Given the description of an element on the screen output the (x, y) to click on. 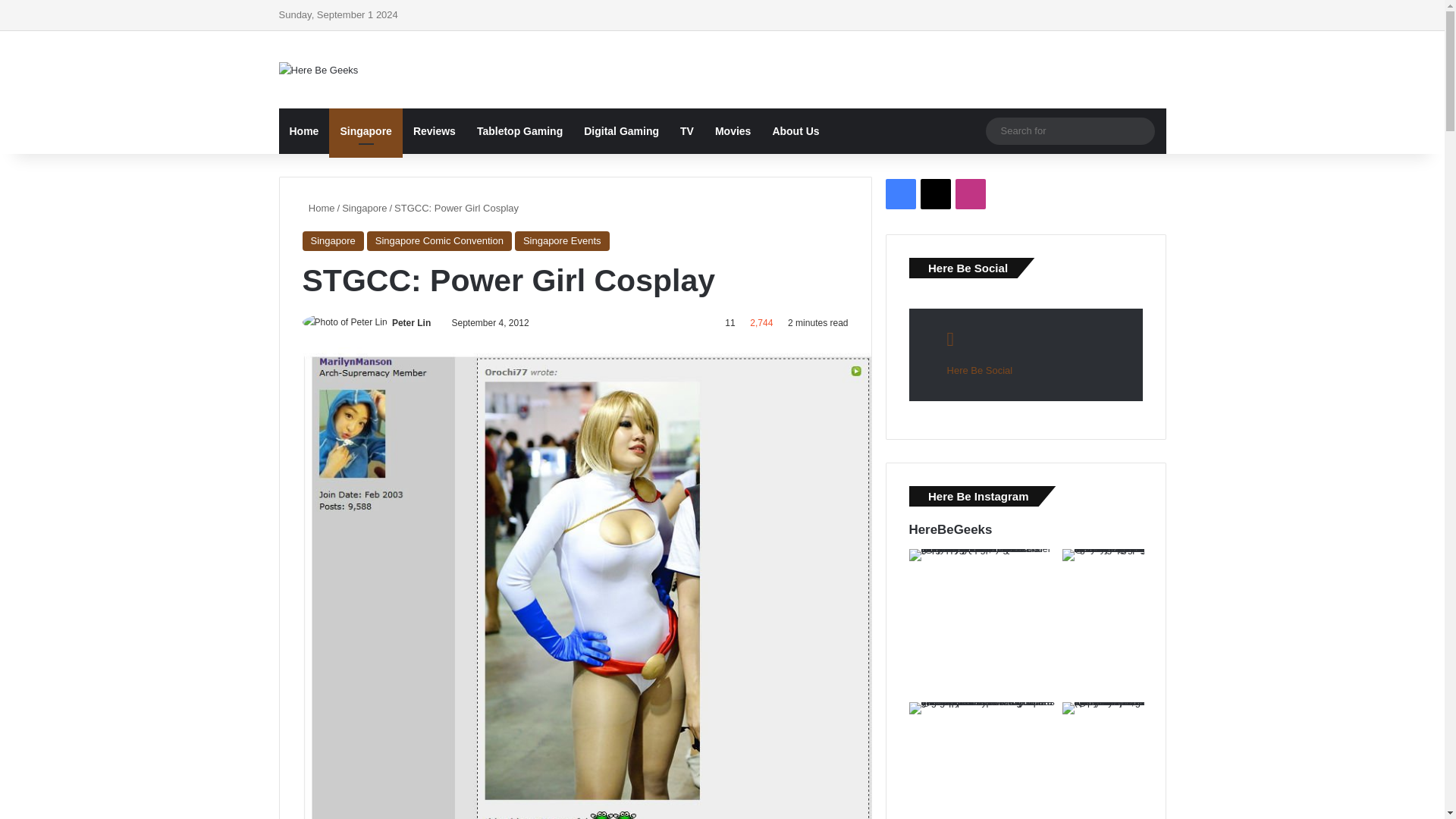
Movies (732, 130)
Singapore Events (562, 240)
Search for (1069, 130)
Search for (1139, 130)
Singapore (365, 130)
Peter Lin (410, 322)
Peter Lin (410, 322)
Singapore Comic Convention (439, 240)
Singapore (364, 207)
Home (317, 207)
